Given the description of an element on the screen output the (x, y) to click on. 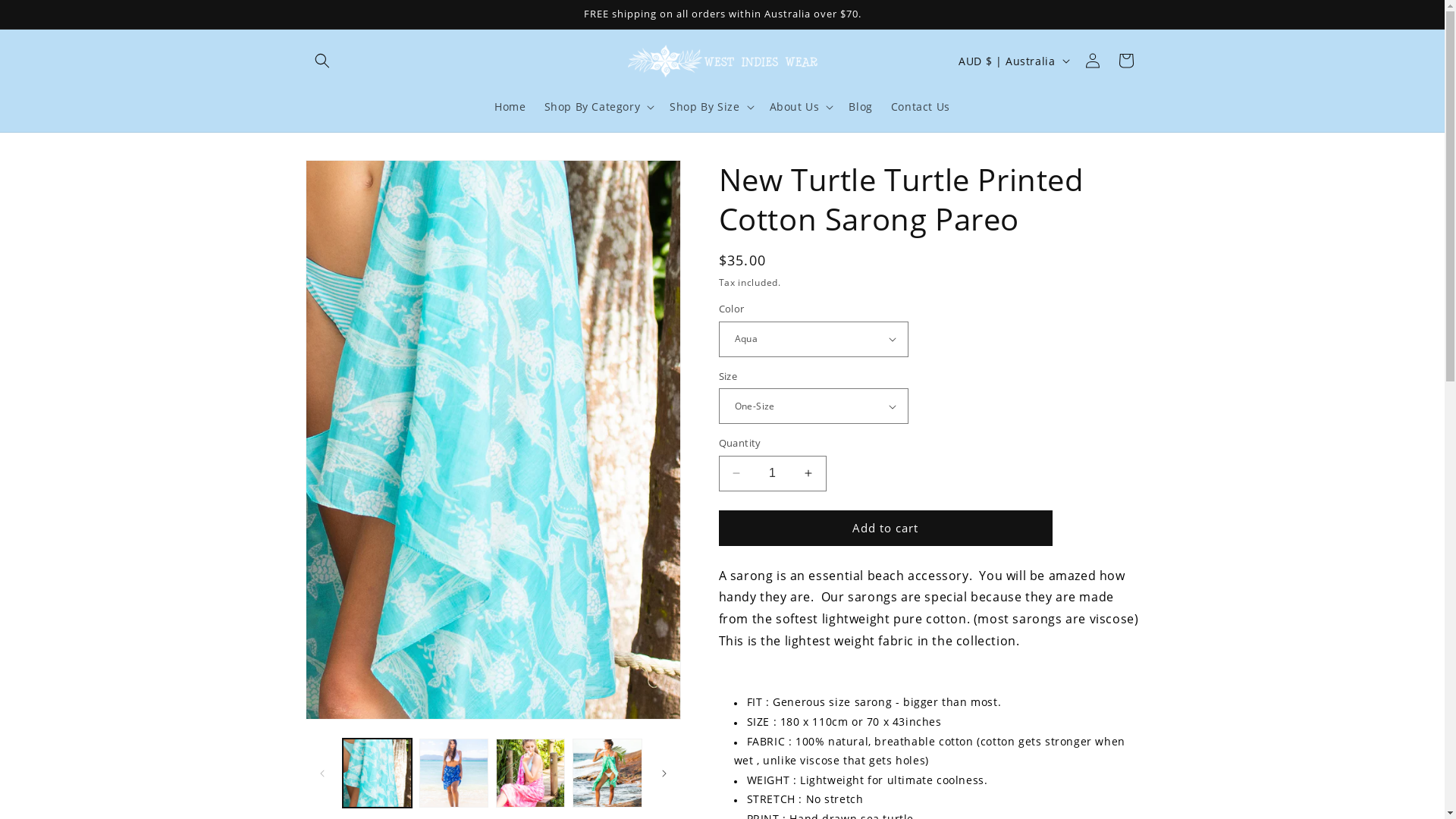
Skip to product information Element type: text (350, 176)
Blog Element type: text (860, 106)
Cart Element type: text (1125, 60)
Contact Us Element type: text (920, 106)
Add to cart Element type: text (885, 528)
Log in Element type: text (1091, 60)
Home Element type: text (509, 106)
AUD $ | Australia Element type: text (1012, 60)
